Given the description of an element on the screen output the (x, y) to click on. 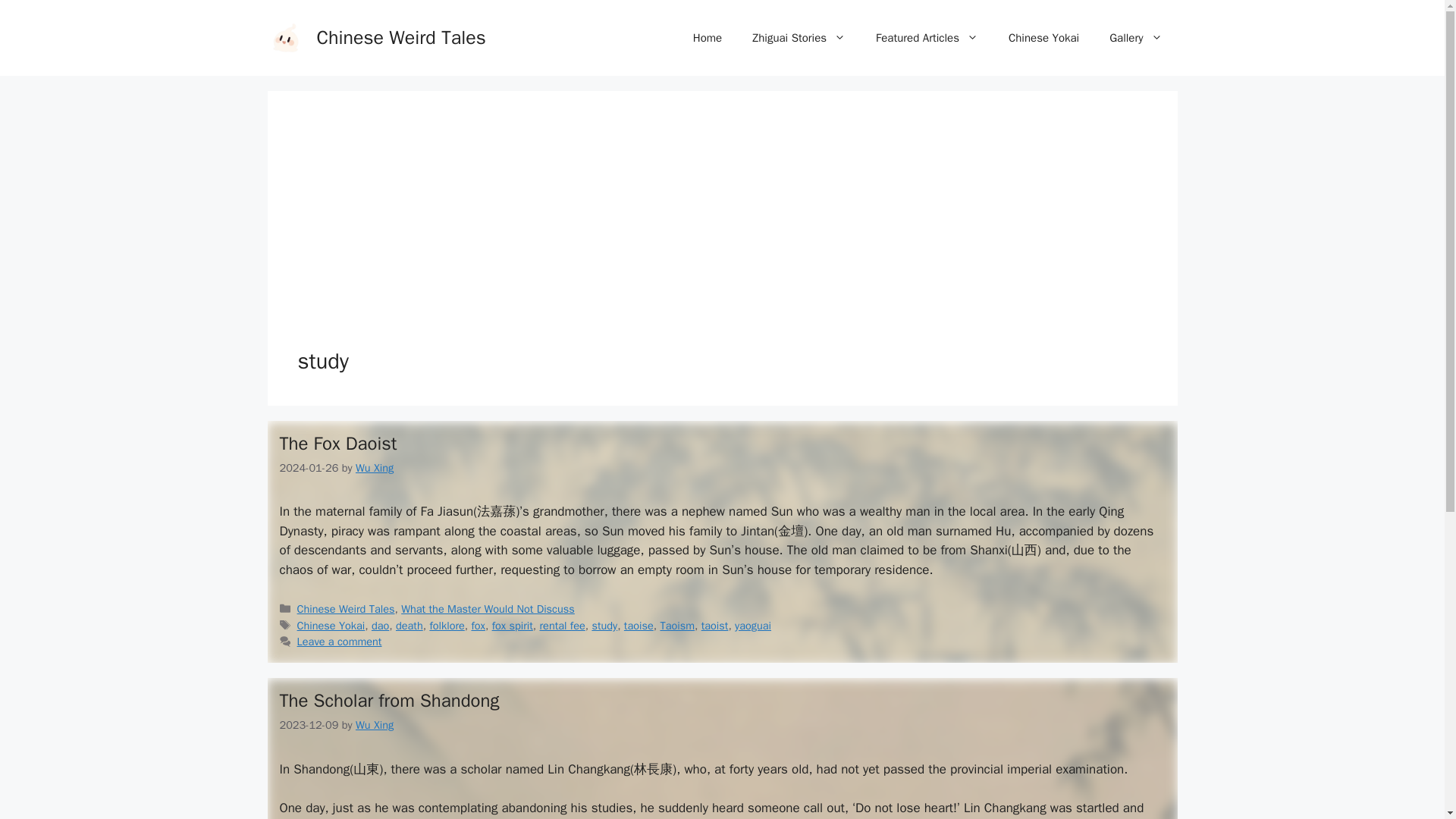
Home (707, 37)
folklore (446, 625)
Wu Xing (374, 468)
Zhiguai Stories (798, 37)
Chinese Yokai (1043, 37)
fox (477, 625)
View all posts by Wu Xing (374, 725)
Chinese Yokai (331, 625)
Chinese Weird Tales (401, 37)
Featured Articles (926, 37)
death (409, 625)
The Fox Daoist (337, 443)
dao (379, 625)
View all posts by Wu Xing (374, 468)
rental fee (562, 625)
